Given the description of an element on the screen output the (x, y) to click on. 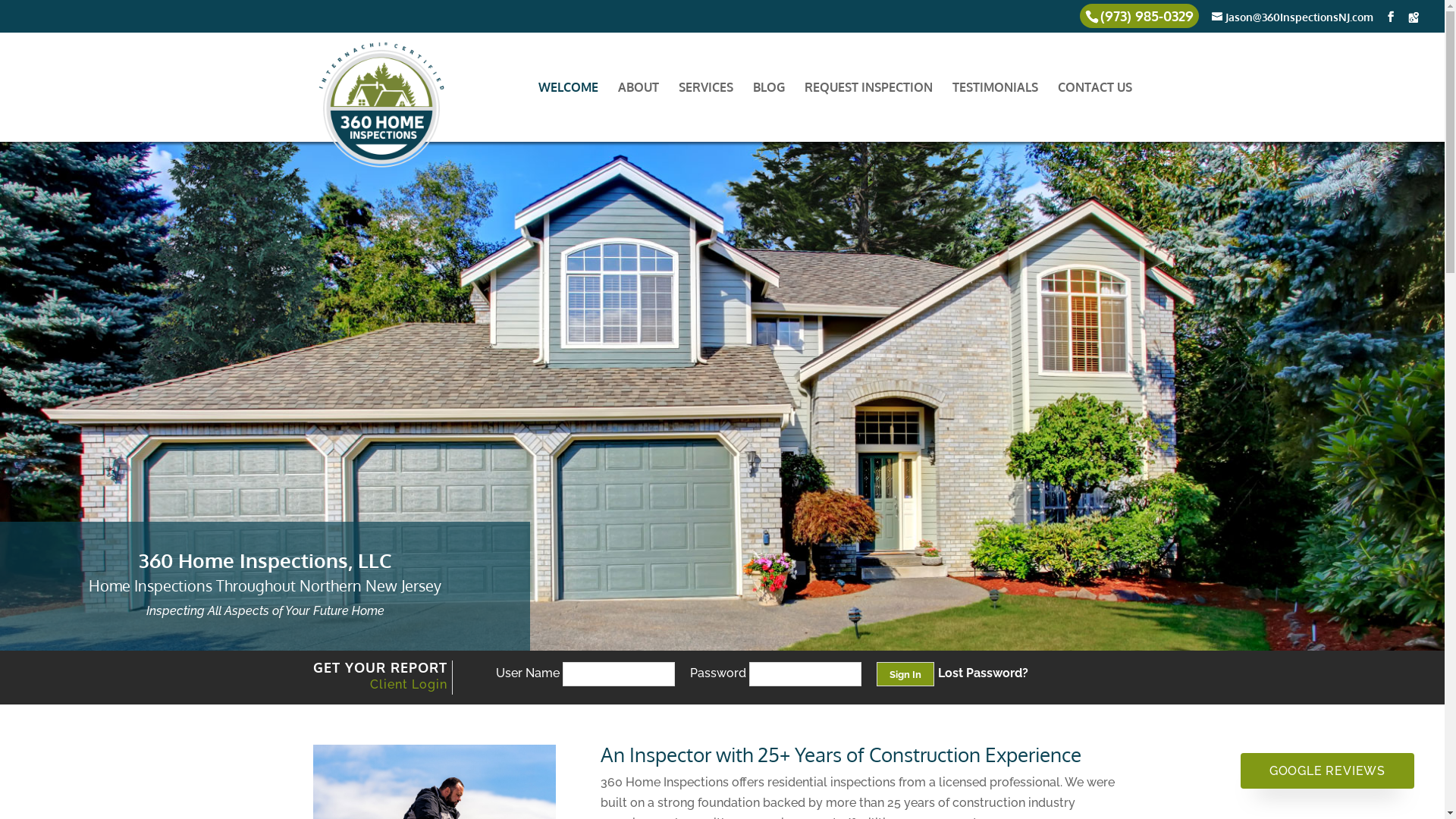
REQUEST INSPECTION Element type: text (867, 111)
Sign In Element type: text (905, 674)
Lost Password? Element type: text (983, 671)
WELCOME Element type: text (568, 111)
TESTIMONIALS Element type: text (995, 111)
(973) 985-0329 Element type: text (1143, 16)
GOOGLE REVIEWS Element type: text (1327, 770)
Jason@360InspectionsNJ.com Element type: text (1292, 16)
SERVICES Element type: text (704, 111)
ABOUT Element type: text (637, 111)
CONTACT US Element type: text (1094, 111)
BLOG Element type: text (768, 111)
